Given the description of an element on the screen output the (x, y) to click on. 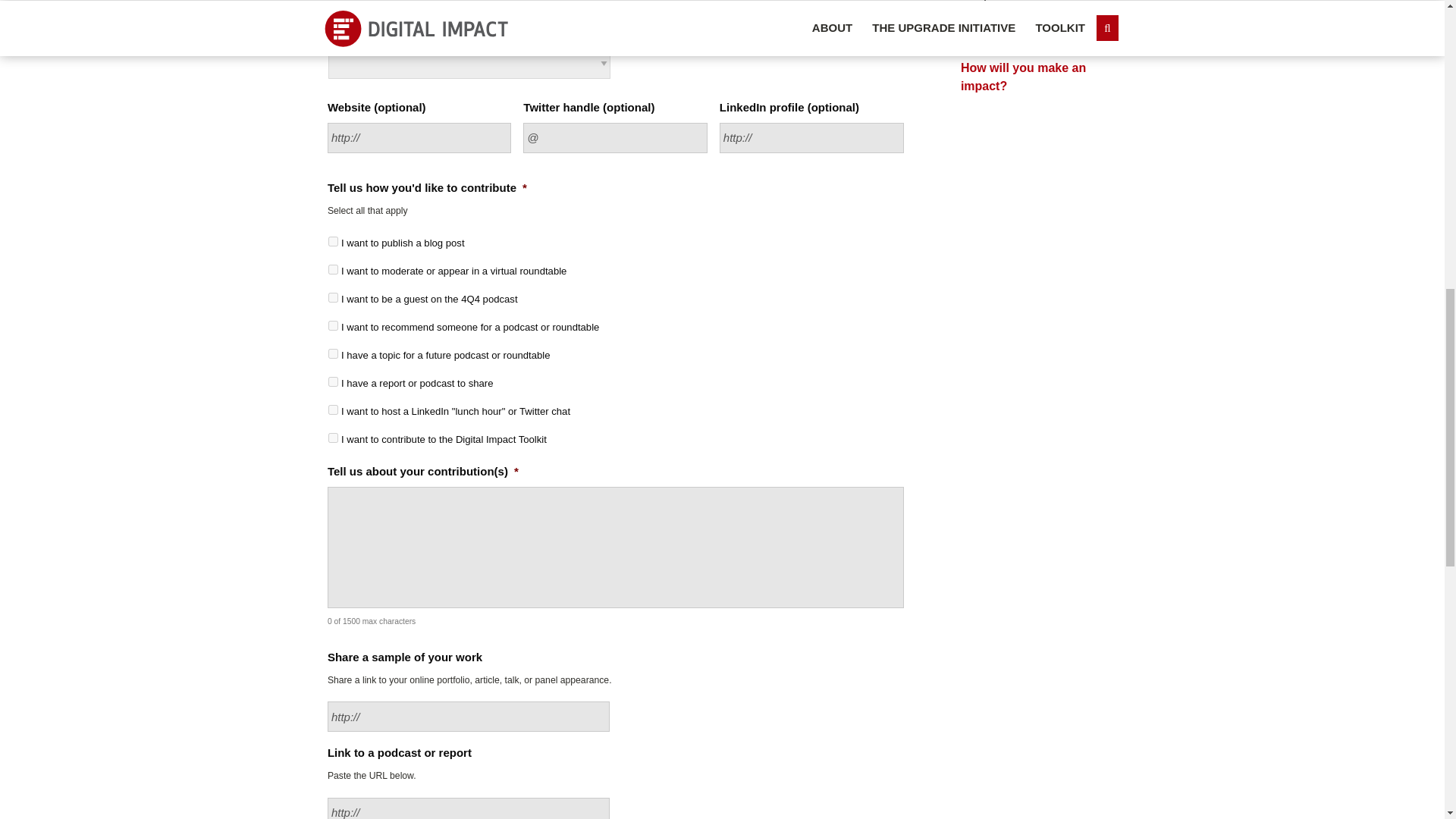
I want to recommend someone for a podcast or roundtable (333, 325)
I have a topic for a future podcast or roundtable (333, 353)
I want to be a guest on the 4Q4 podcast (333, 297)
I want to moderate or appear in a virtual roundtable (333, 269)
I want to publish a blog post (333, 241)
I have a report or podcast to share (333, 381)
